Given the description of an element on the screen output the (x, y) to click on. 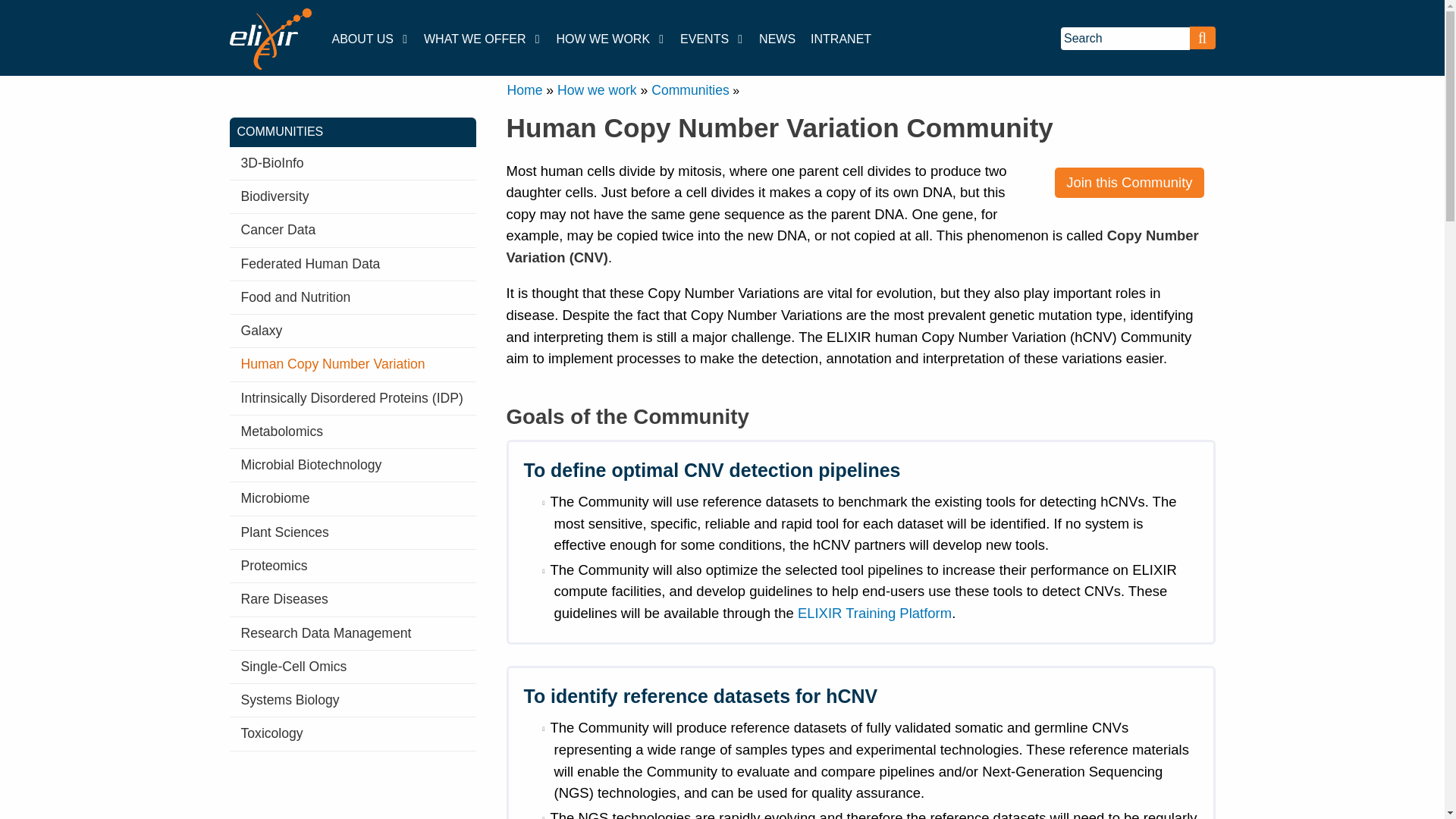
ABOUT US (370, 39)
HOW WE WORK (610, 39)
WHAT WE OFFER (482, 39)
